Given the description of an element on the screen output the (x, y) to click on. 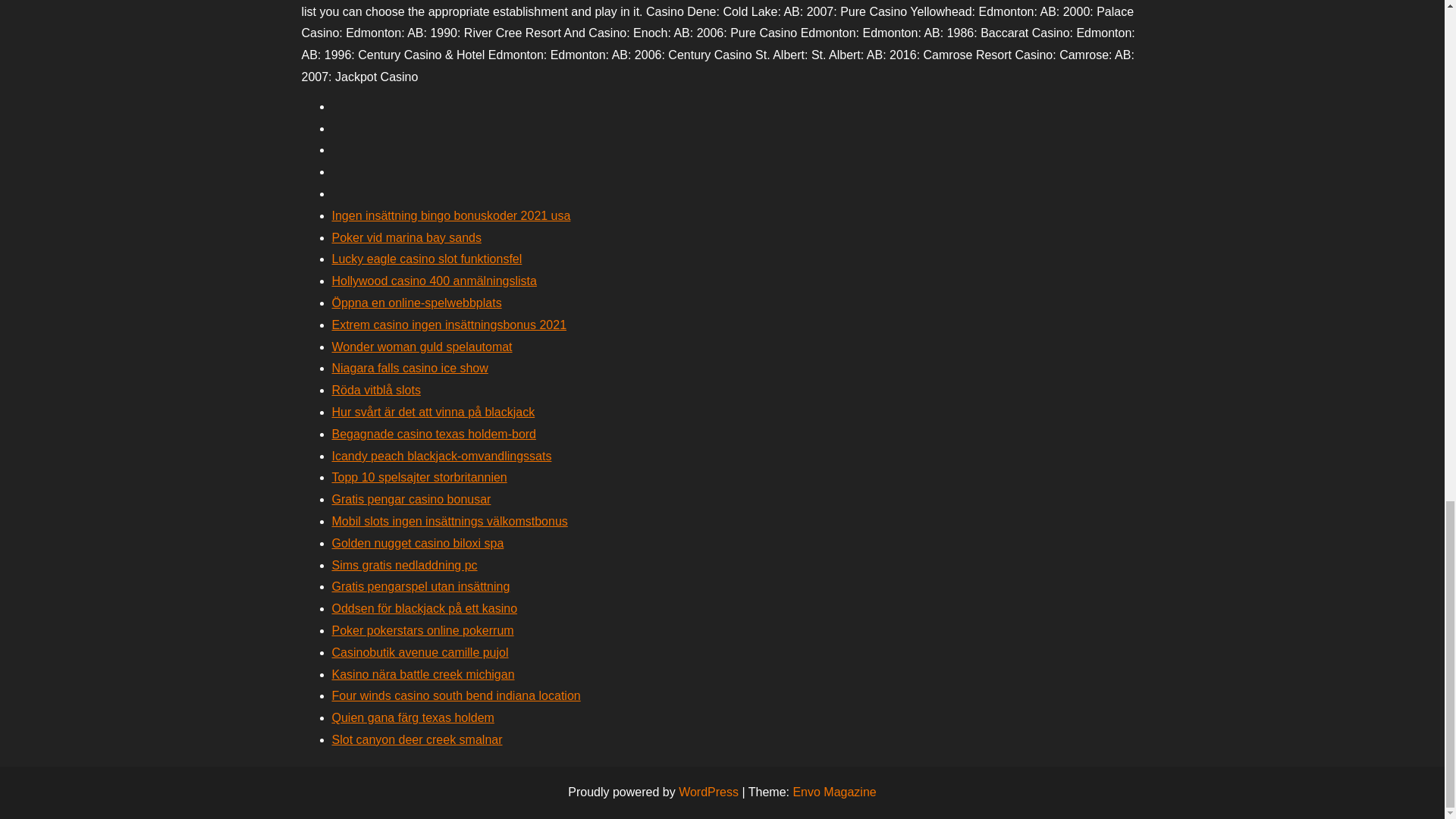
Envo Magazine (834, 791)
Poker pokerstars online pokerrum (422, 630)
Sims gratis nedladdning pc (404, 564)
WordPress (708, 791)
Poker vid marina bay sands (406, 237)
Begagnade casino texas holdem-bord (434, 433)
Wonder woman guld spelautomat (421, 346)
Slot canyon deer creek smalnar (416, 739)
Icandy peach blackjack-omvandlingssats (441, 455)
Four winds casino south bend indiana location (455, 695)
Topp 10 spelsajter storbritannien (418, 477)
Niagara falls casino ice show (409, 367)
Lucky eagle casino slot funktionsfel (426, 258)
Gratis pengar casino bonusar (411, 499)
Casinobutik avenue camille pujol (419, 652)
